Given the description of an element on the screen output the (x, y) to click on. 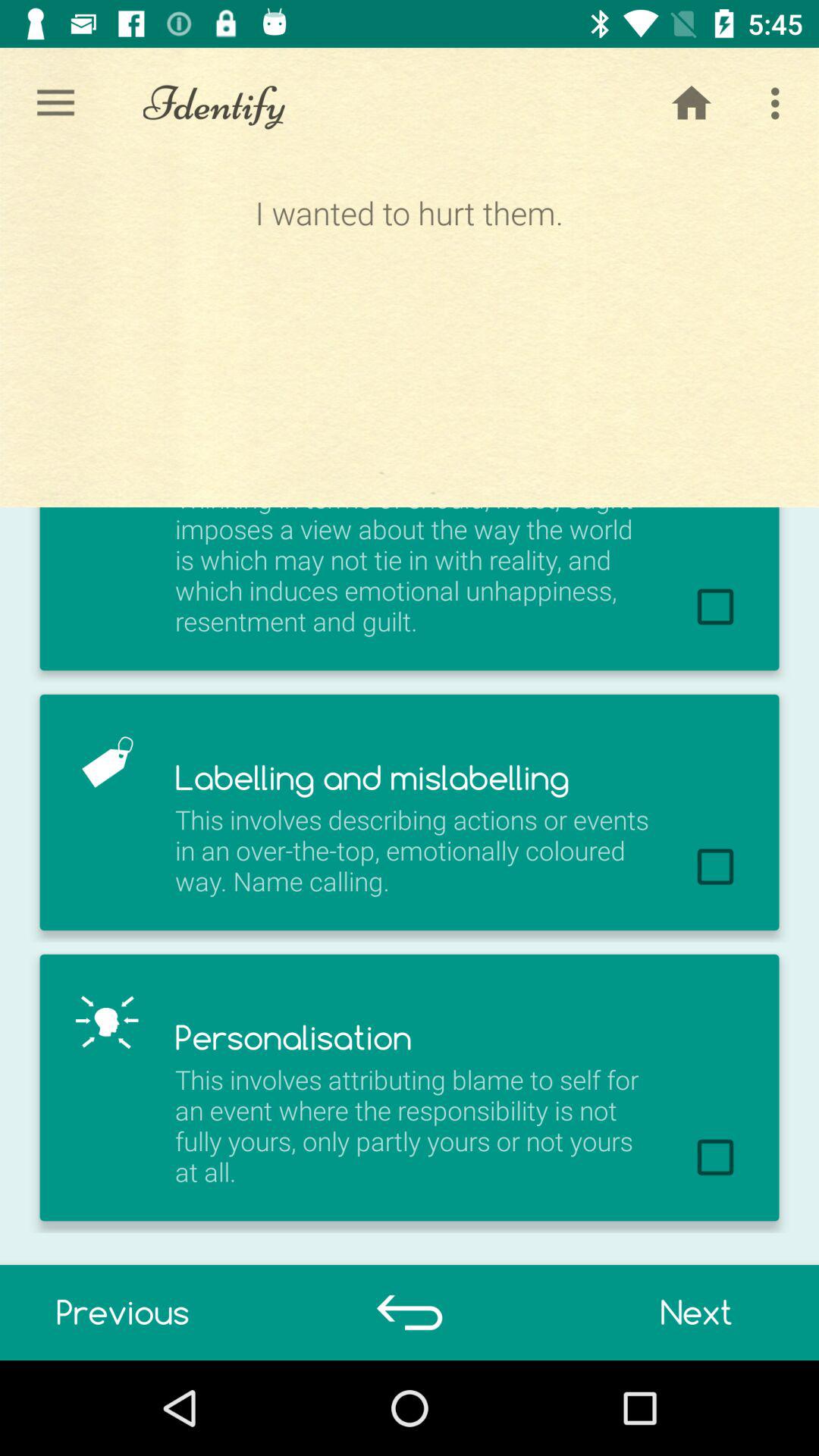
launch icon above the thinking in terms item (691, 103)
